Given the description of an element on the screen output the (x, y) to click on. 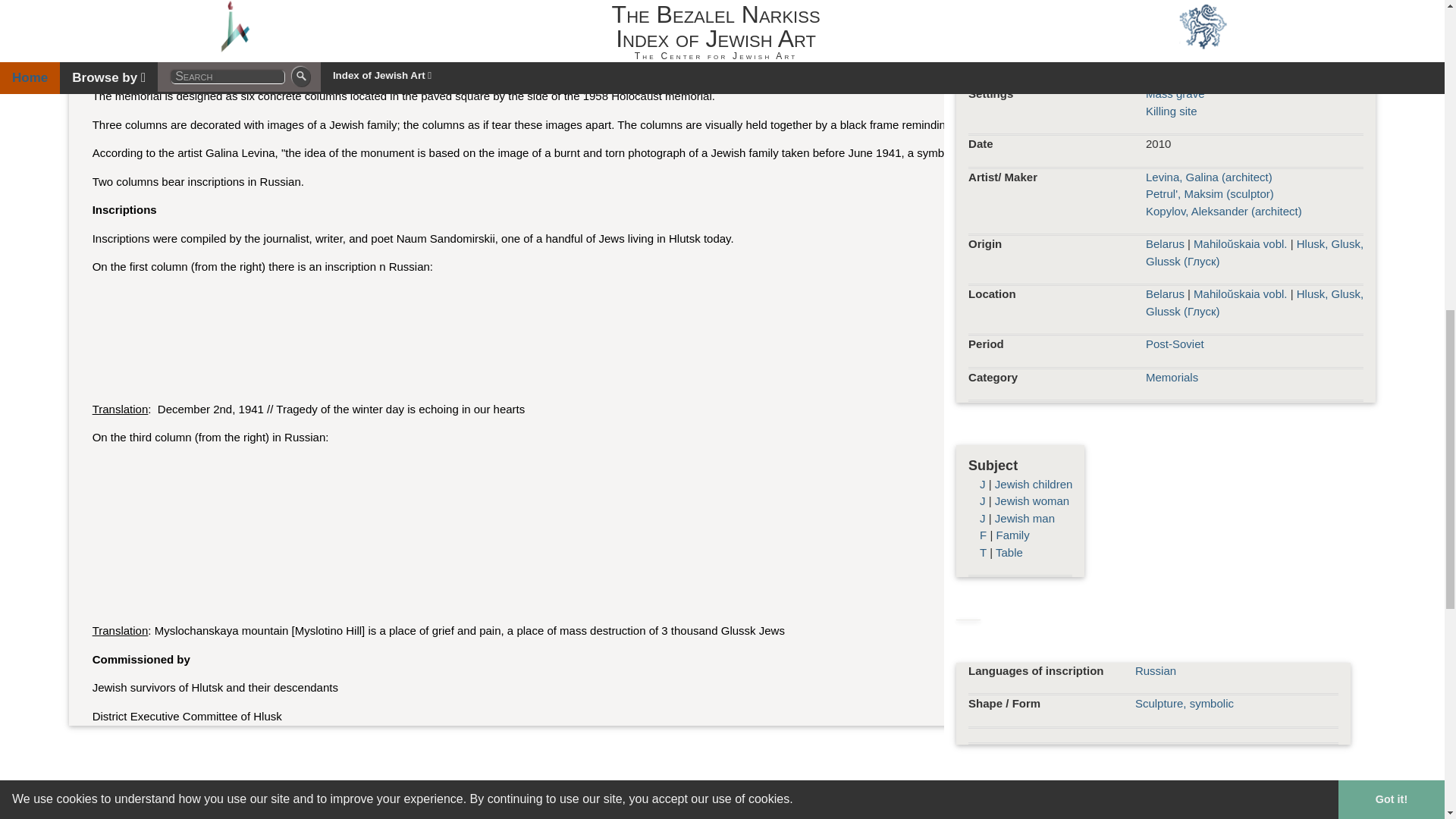
Belarus (1165, 243)
Mass grave (1175, 92)
Killing site (1170, 110)
